Given the description of an element on the screen output the (x, y) to click on. 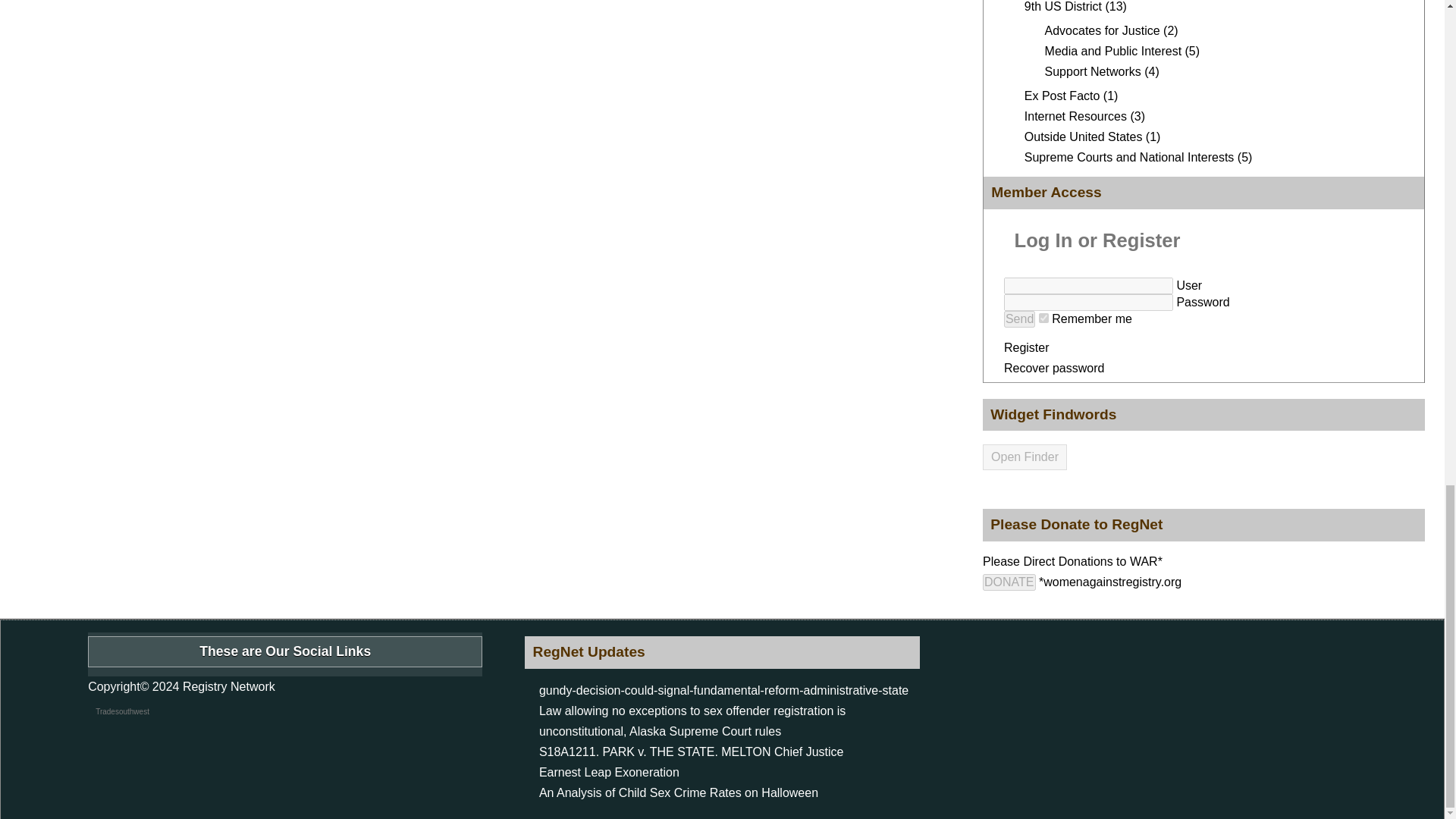
donate here (1008, 581)
Register (1026, 347)
Lost Password (1054, 367)
forever (1043, 317)
Send (1019, 319)
